Given the description of an element on the screen output the (x, y) to click on. 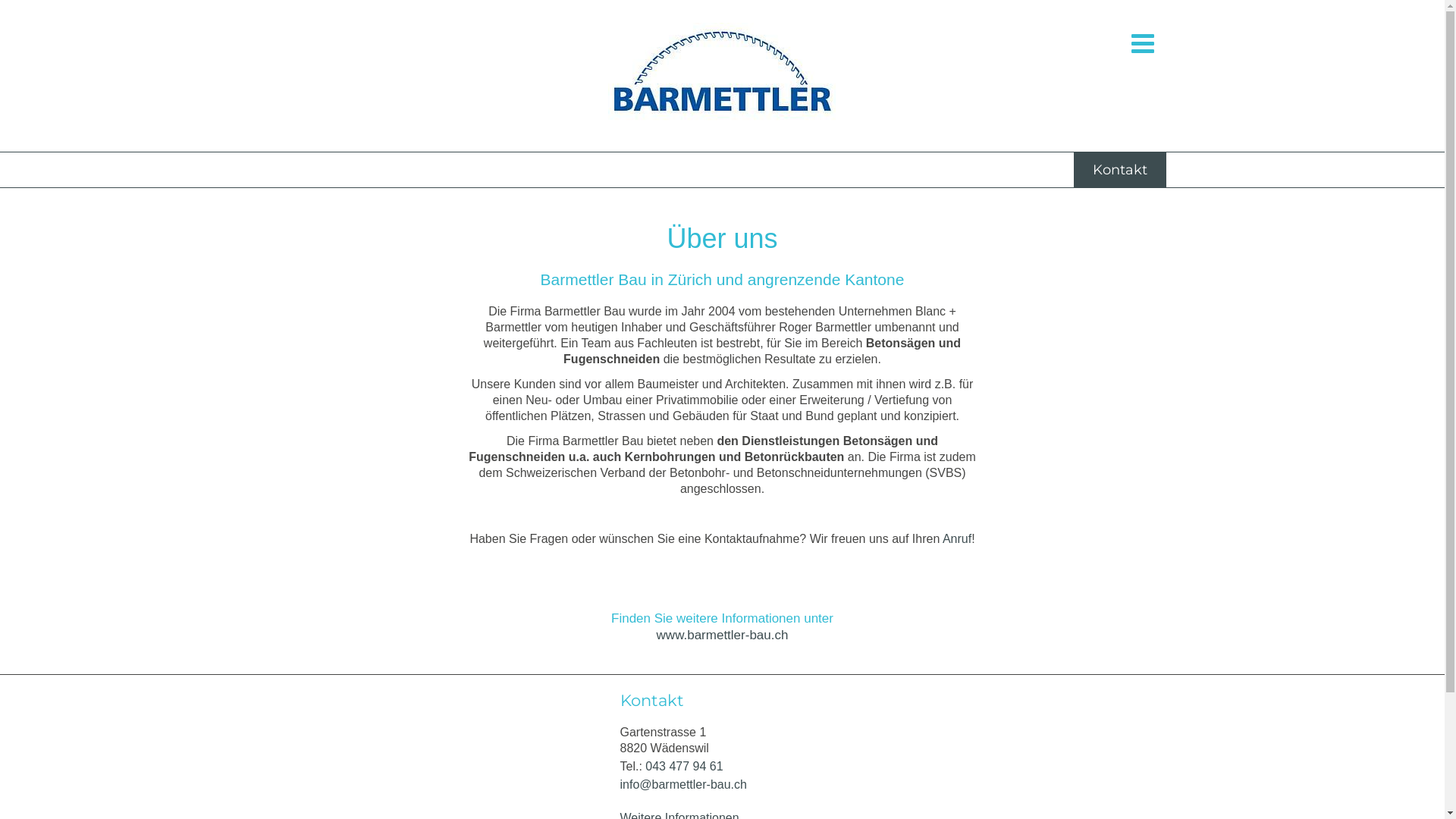
043 477 94 61 Element type: text (683, 765)
info@barmettler-bau.ch Element type: text (683, 784)
Kontakt Element type: text (1119, 169)
Anruf Element type: text (956, 538)
logo Element type: hover (721, 75)
www.barmettler-bau.ch Element type: text (722, 634)
